Given the description of an element on the screen output the (x, y) to click on. 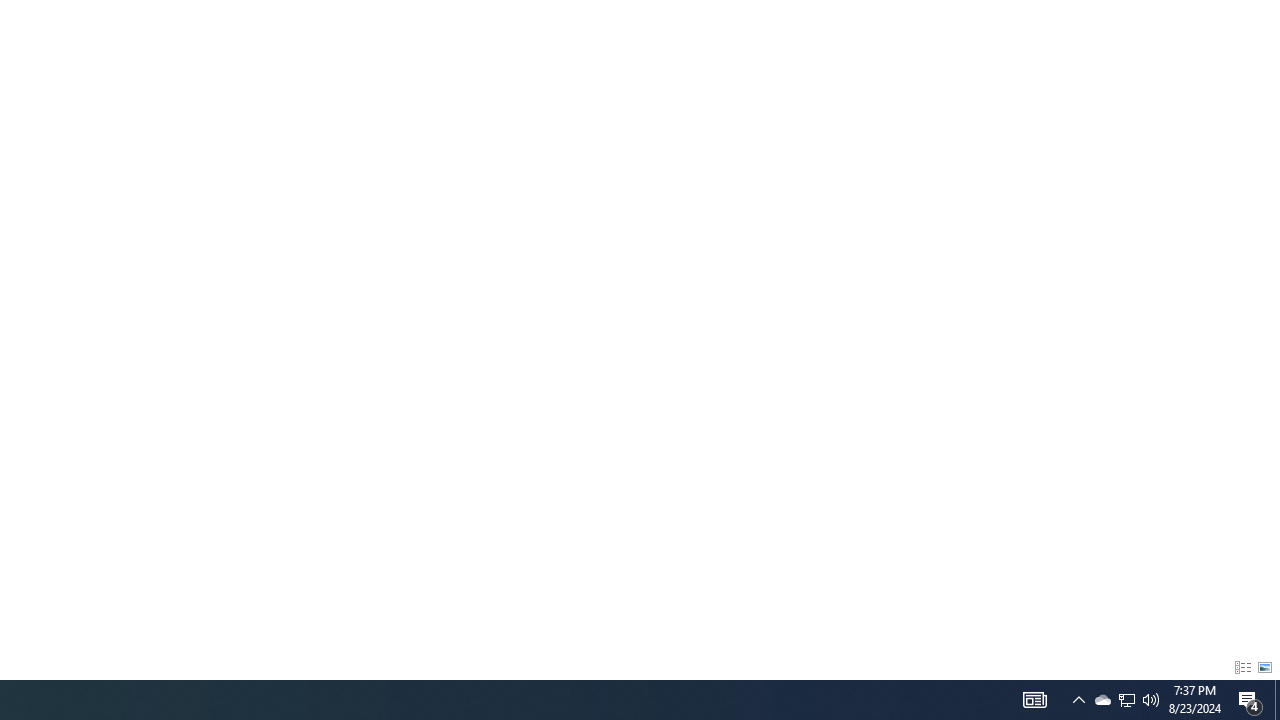
Large Icons (1265, 667)
Details (1242, 667)
